Given the description of an element on the screen output the (x, y) to click on. 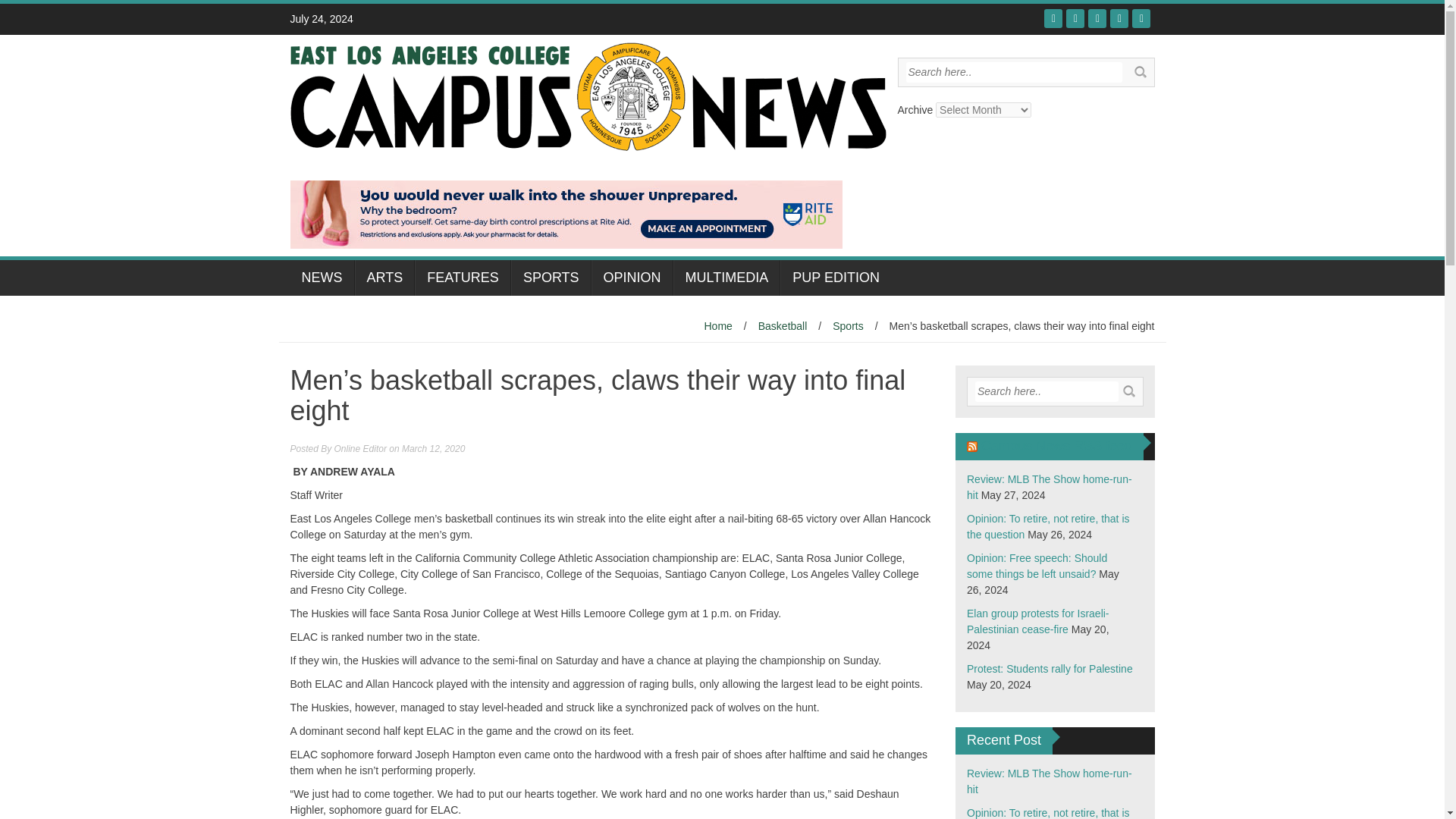
Home (717, 326)
ARTS (384, 277)
Email (1141, 18)
Basketball (783, 326)
Sports (847, 326)
OPINION (631, 277)
Twitter (1074, 18)
MULTIMEDIA (726, 277)
Search here.. (1013, 72)
FEATURES (462, 277)
Instagram (1118, 18)
Youtube (1096, 18)
East Los Angeles College Campus News (587, 95)
Posts by Online Editor (360, 448)
Online Editor (360, 448)
